Given the description of an element on the screen output the (x, y) to click on. 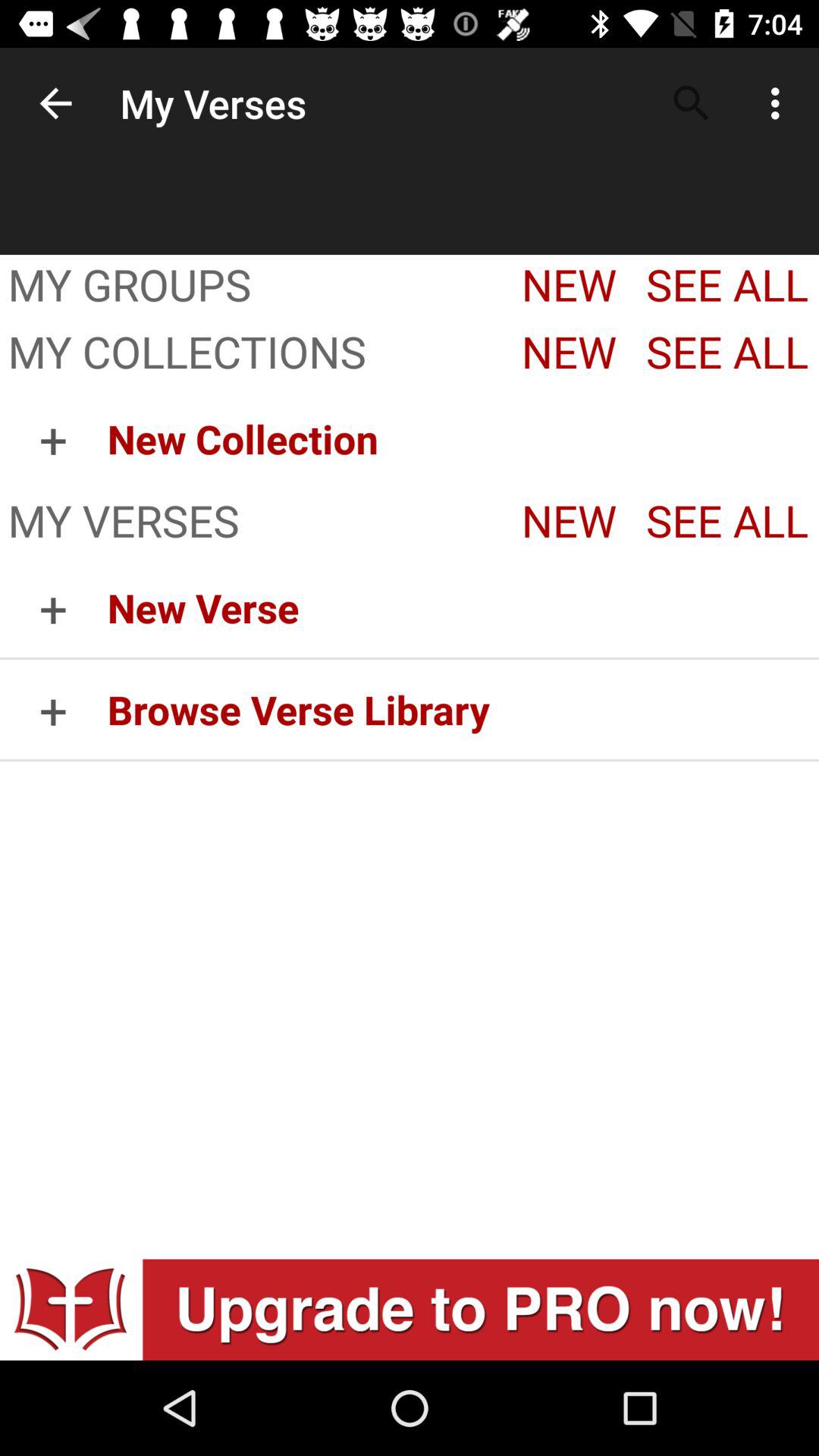
jump until browse verse library icon (463, 709)
